Given the description of an element on the screen output the (x, y) to click on. 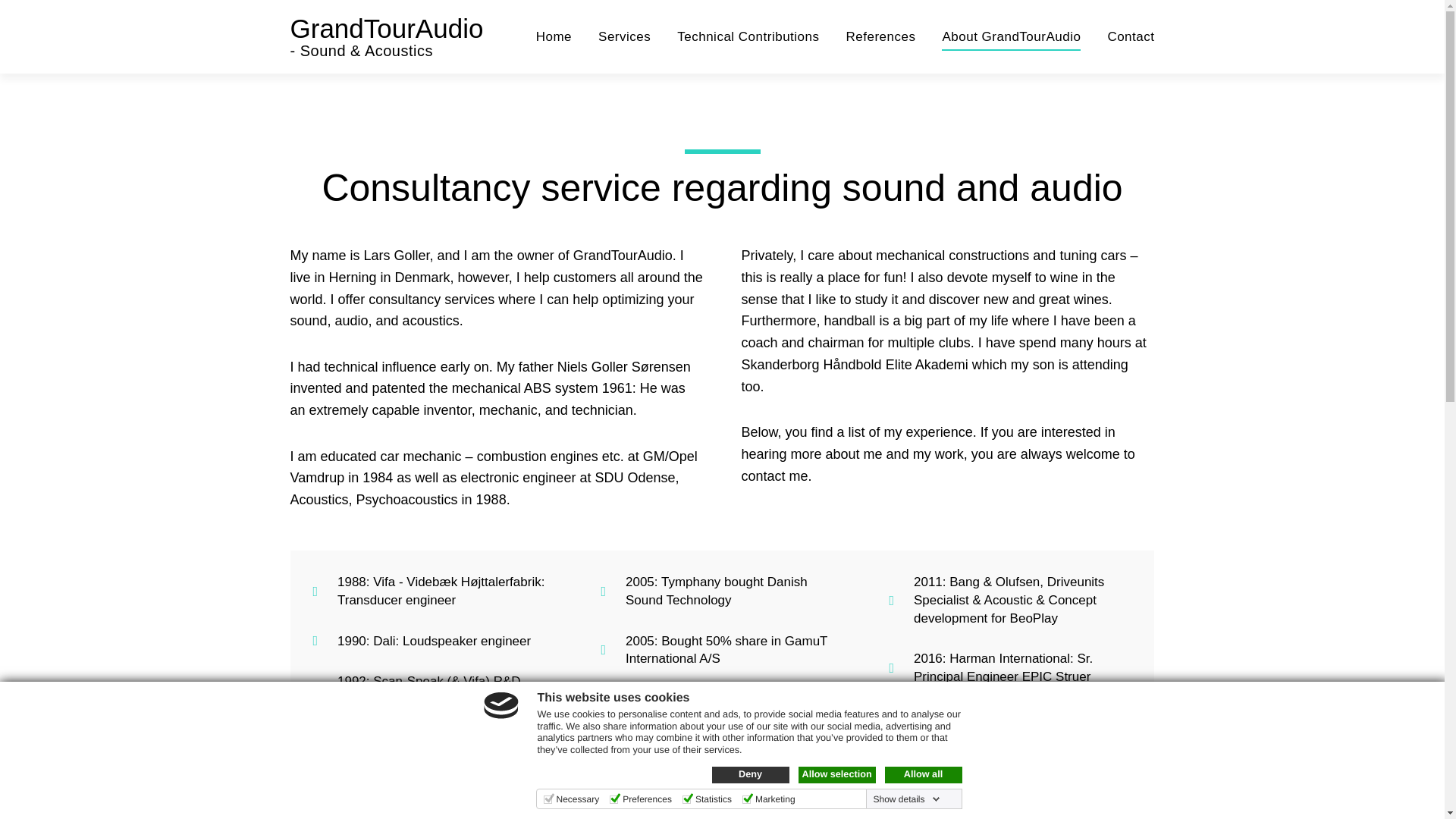
Allow all (921, 774)
Contact (1130, 35)
Deny (750, 774)
Services (624, 35)
Allow selection (836, 774)
GrandTourAudio (386, 28)
